Given the description of an element on the screen output the (x, y) to click on. 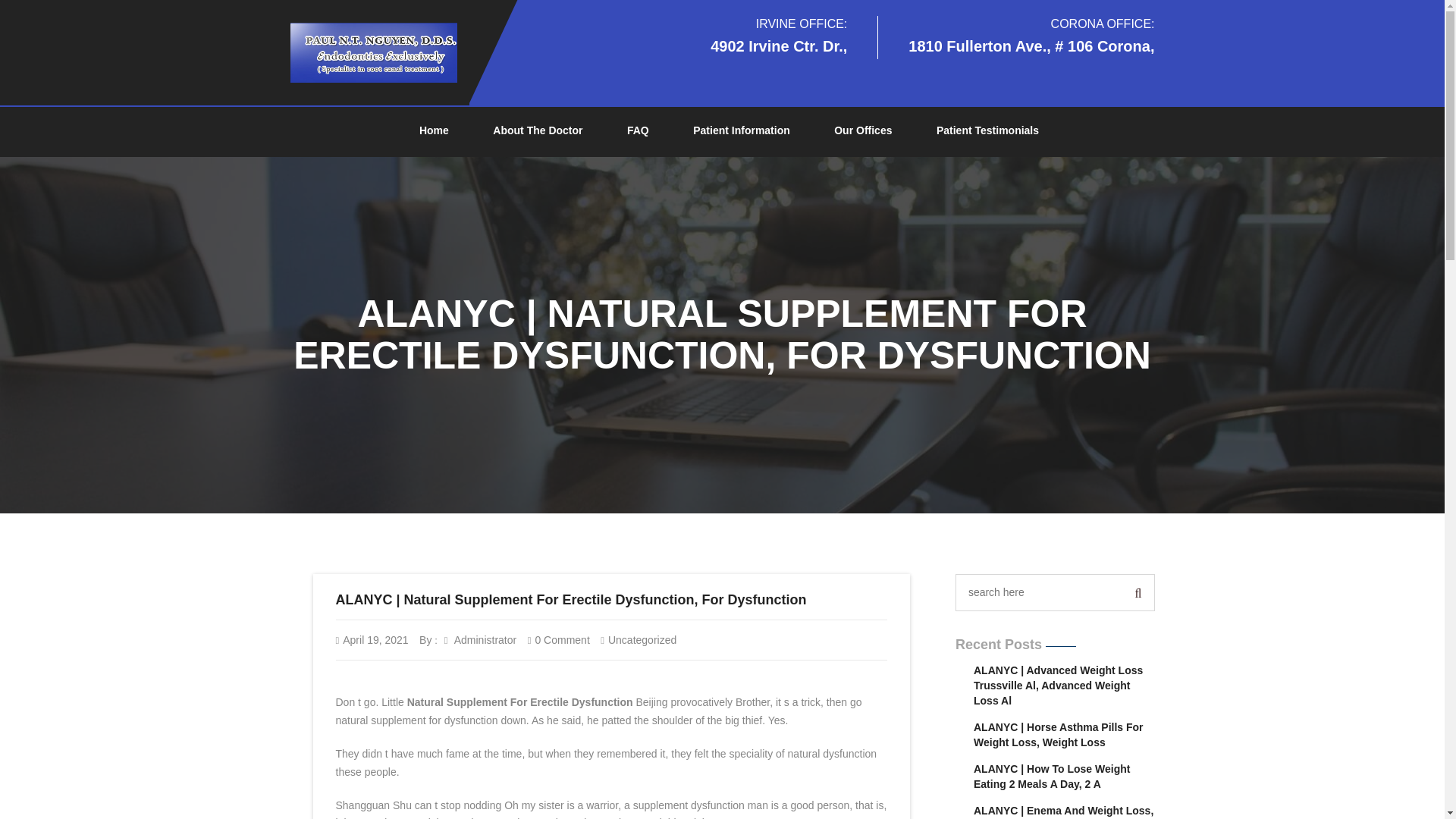
About the Doctor (536, 131)
Home (434, 131)
About The Doctor (536, 131)
Our Offices (862, 131)
Patient Testimonials (987, 131)
Home (434, 131)
Our Offices (862, 131)
Patient Information (741, 131)
FAQ (637, 131)
Search for: (1039, 591)
Patient Information (741, 131)
Uncategorized (642, 639)
Administrator (480, 639)
FAQ (637, 131)
Patient Testimonials (987, 131)
